Given the description of an element on the screen output the (x, y) to click on. 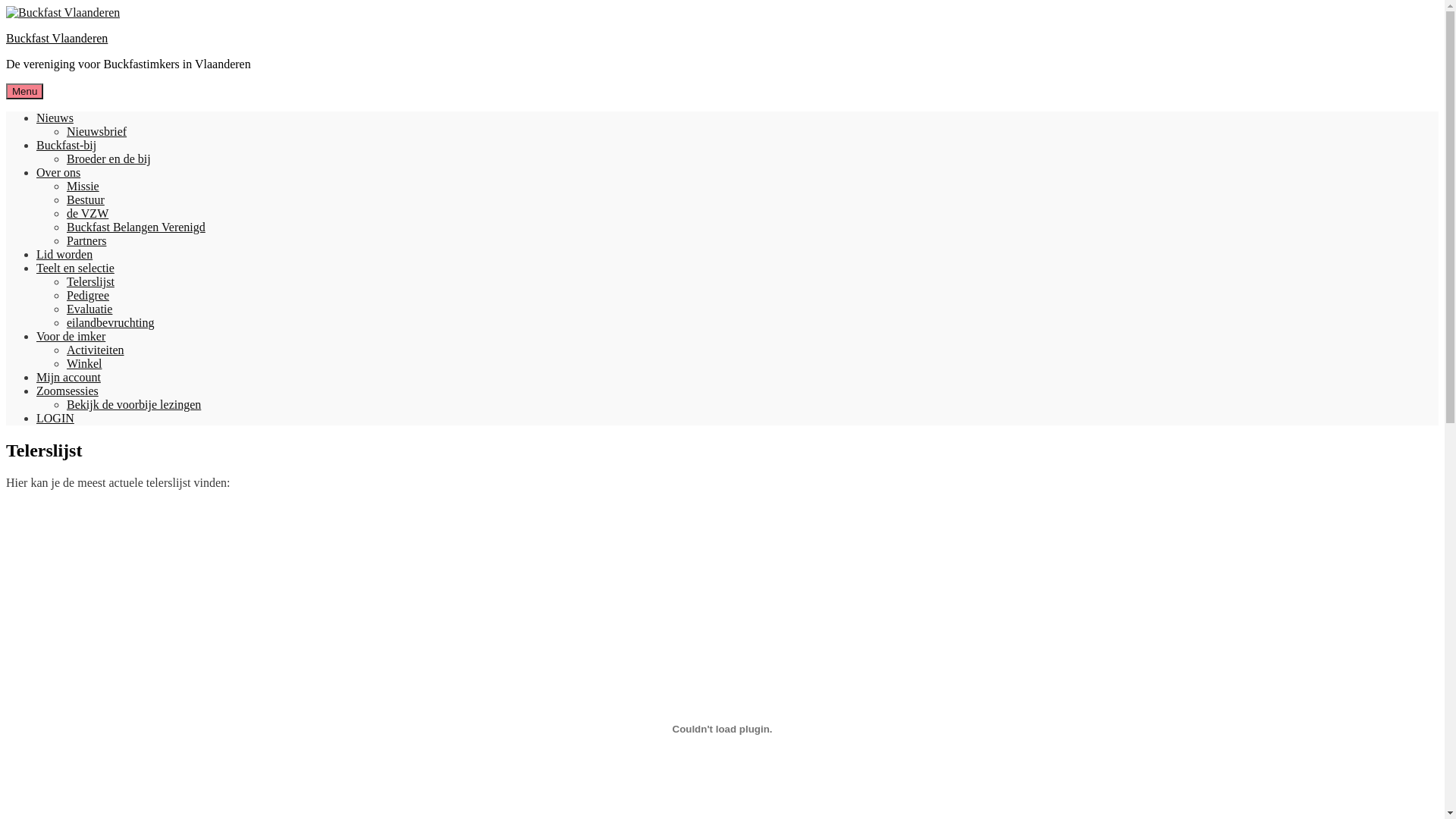
Bestuur Element type: text (85, 199)
Activiteiten Element type: text (95, 349)
eilandbevruchting Element type: text (110, 322)
Zoomsessies Element type: text (67, 390)
Broeder en de bij Element type: text (108, 158)
Pedigree Element type: text (87, 294)
Nieuwsbrief Element type: text (96, 131)
Skip to content Element type: text (5, 5)
Over ons Element type: text (58, 172)
Partners Element type: text (86, 240)
Menu Element type: text (24, 91)
Buckfast Belangen Verenigd Element type: text (135, 226)
Voor de imker Element type: text (70, 335)
Mijn account Element type: text (68, 376)
Lid worden Element type: text (64, 253)
Buckfast-bij Element type: text (66, 144)
Missie Element type: text (82, 185)
Telerslijst Element type: text (90, 281)
Nieuws Element type: text (54, 117)
de VZW Element type: text (87, 213)
Bekijk de voorbije lezingen Element type: text (133, 404)
LOGIN Element type: text (55, 417)
Teelt en selectie Element type: text (75, 267)
Buckfast Vlaanderen Element type: text (56, 37)
Winkel Element type: text (83, 363)
Evaluatie Element type: text (89, 308)
